Given the description of an element on the screen output the (x, y) to click on. 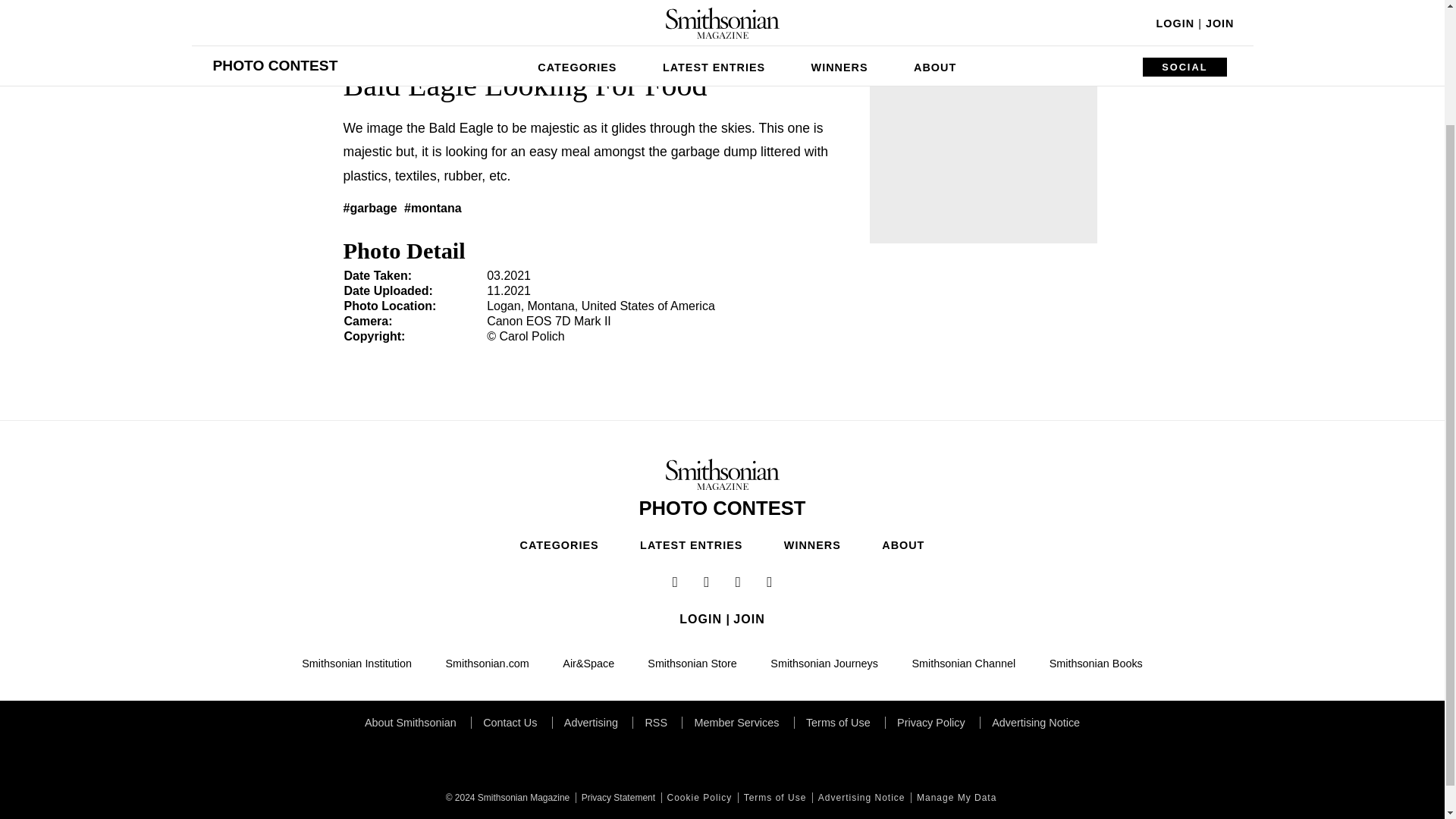
Privacy Statement (616, 797)
Manage My Data (954, 797)
Cookie Policy (698, 797)
Advertising Notice (859, 797)
Terms of Use (773, 797)
